Given the description of an element on the screen output the (x, y) to click on. 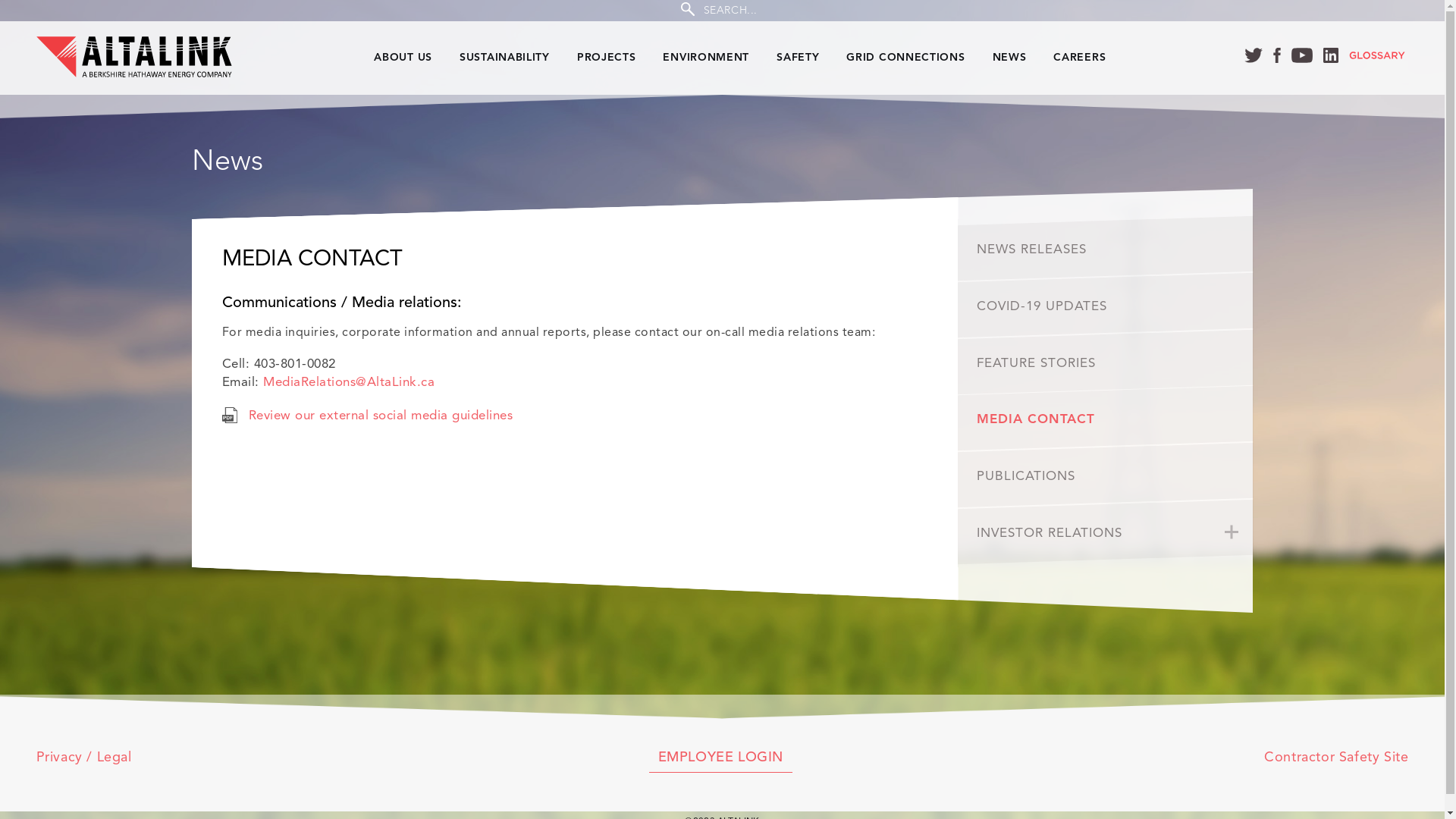
ENVIRONMENT Element type: text (705, 57)
MediaRelations@AltaLink.ca Element type: text (348, 382)
SAFETY Element type: text (797, 57)
NEWS RELEASES Element type: text (1105, 248)
PROJECTS Element type: text (606, 57)
PUBLICATIONS Element type: text (1105, 474)
COVID-19 UPDATES Element type: text (1105, 304)
Review our external social media guidelines Element type: text (380, 416)
NEWS Element type: text (1009, 57)
Glossary Element type: hover (1377, 58)
Privacy / Legal Element type: text (83, 757)
FEATURE STORIES Element type: text (1105, 361)
ABOUT US Element type: text (402, 57)
EMPLOYEE LOGIN Element type: text (720, 761)
Home Page Element type: hover (156, 57)
SUSTAINABILITY Element type: text (504, 57)
CAREERS Element type: text (1079, 57)
GRID CONNECTIONS Element type: text (904, 57)
Contractor Safety Site Element type: text (1336, 757)
MEDIA CONTACT Element type: text (1105, 417)
INVESTOR RELATIONS Element type: text (1105, 531)
